Given the description of an element on the screen output the (x, y) to click on. 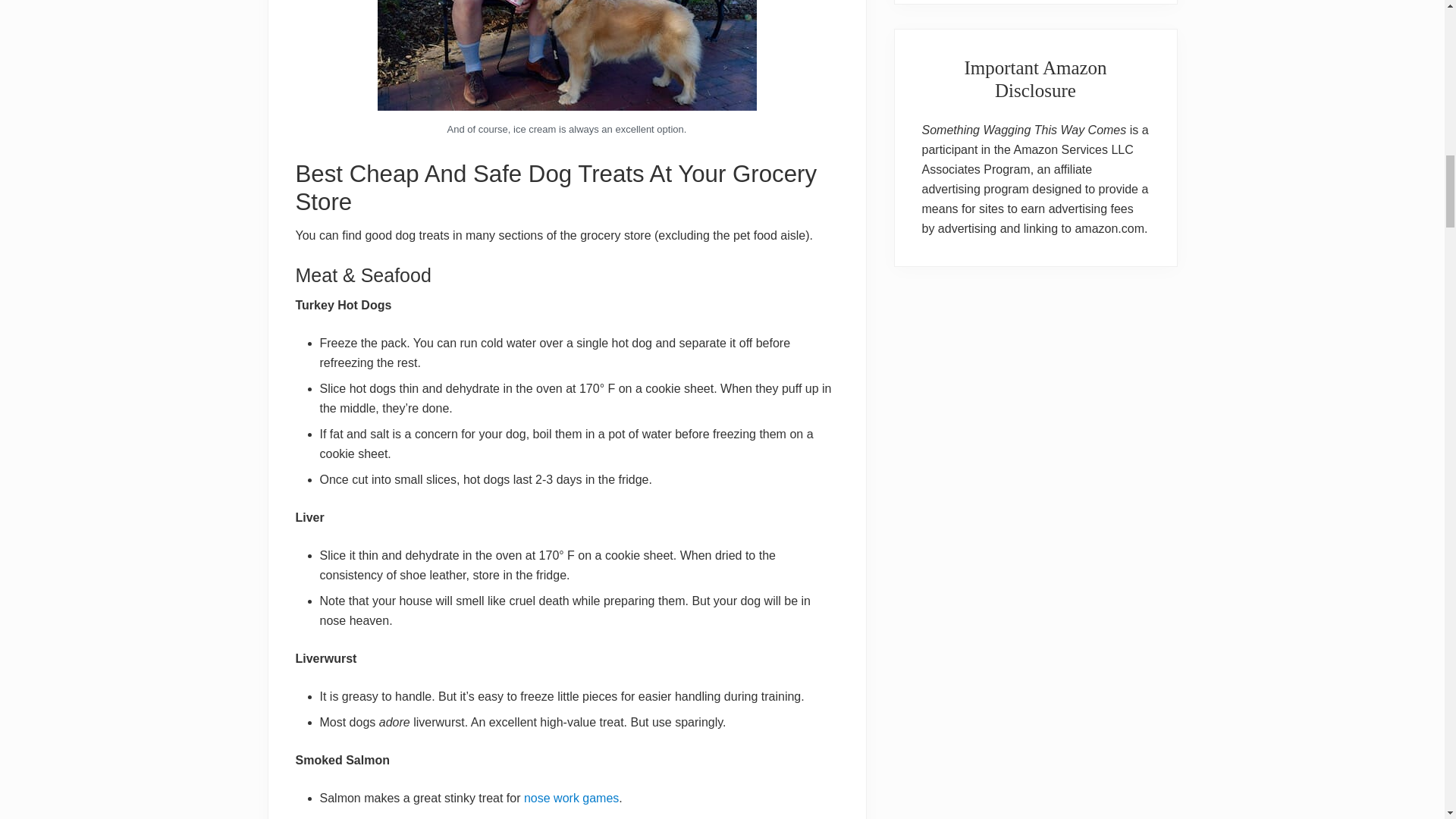
nose work games (571, 797)
